Given the description of an element on the screen output the (x, y) to click on. 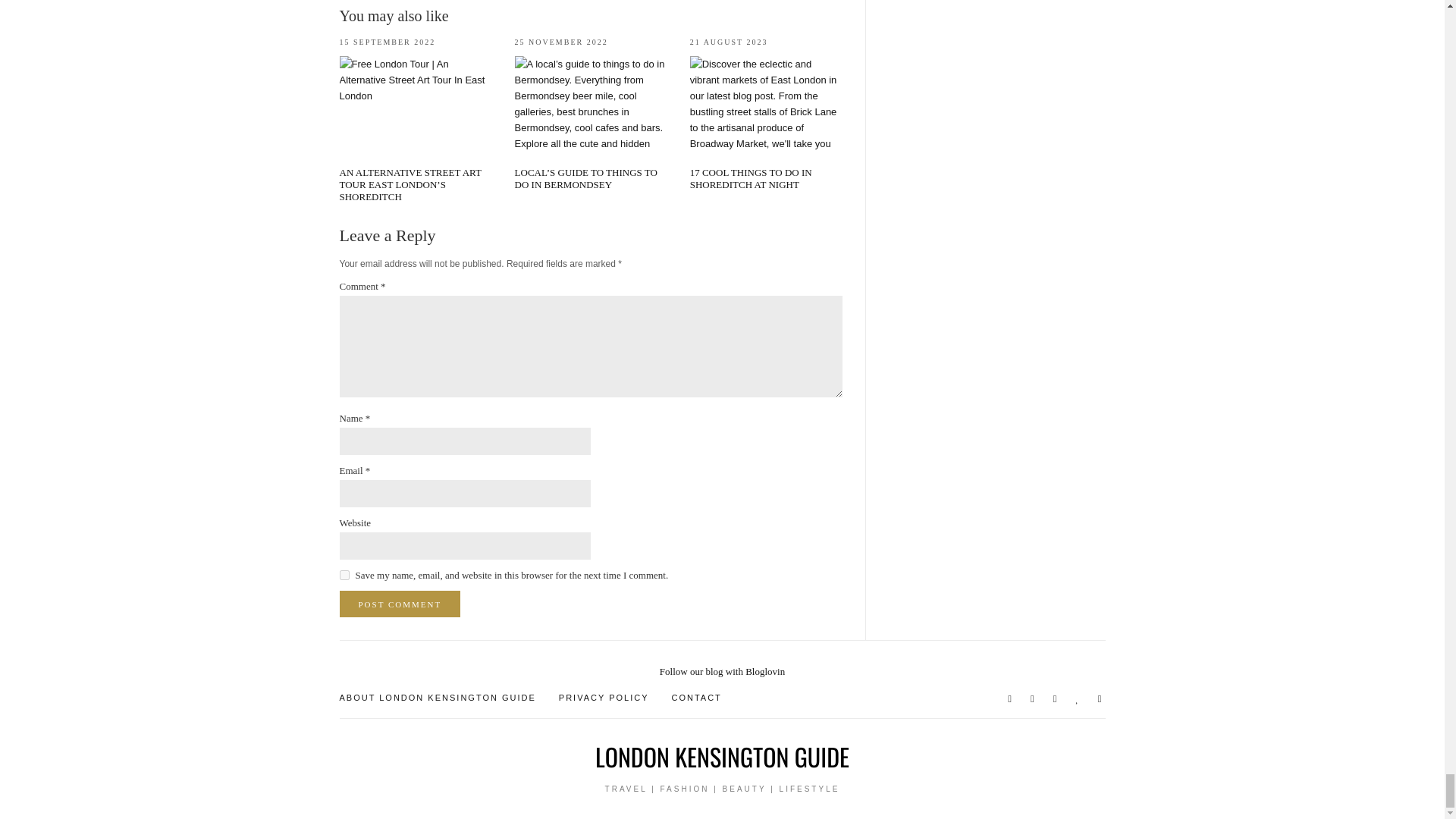
Post Comment (400, 603)
yes (344, 574)
